Given the description of an element on the screen output the (x, y) to click on. 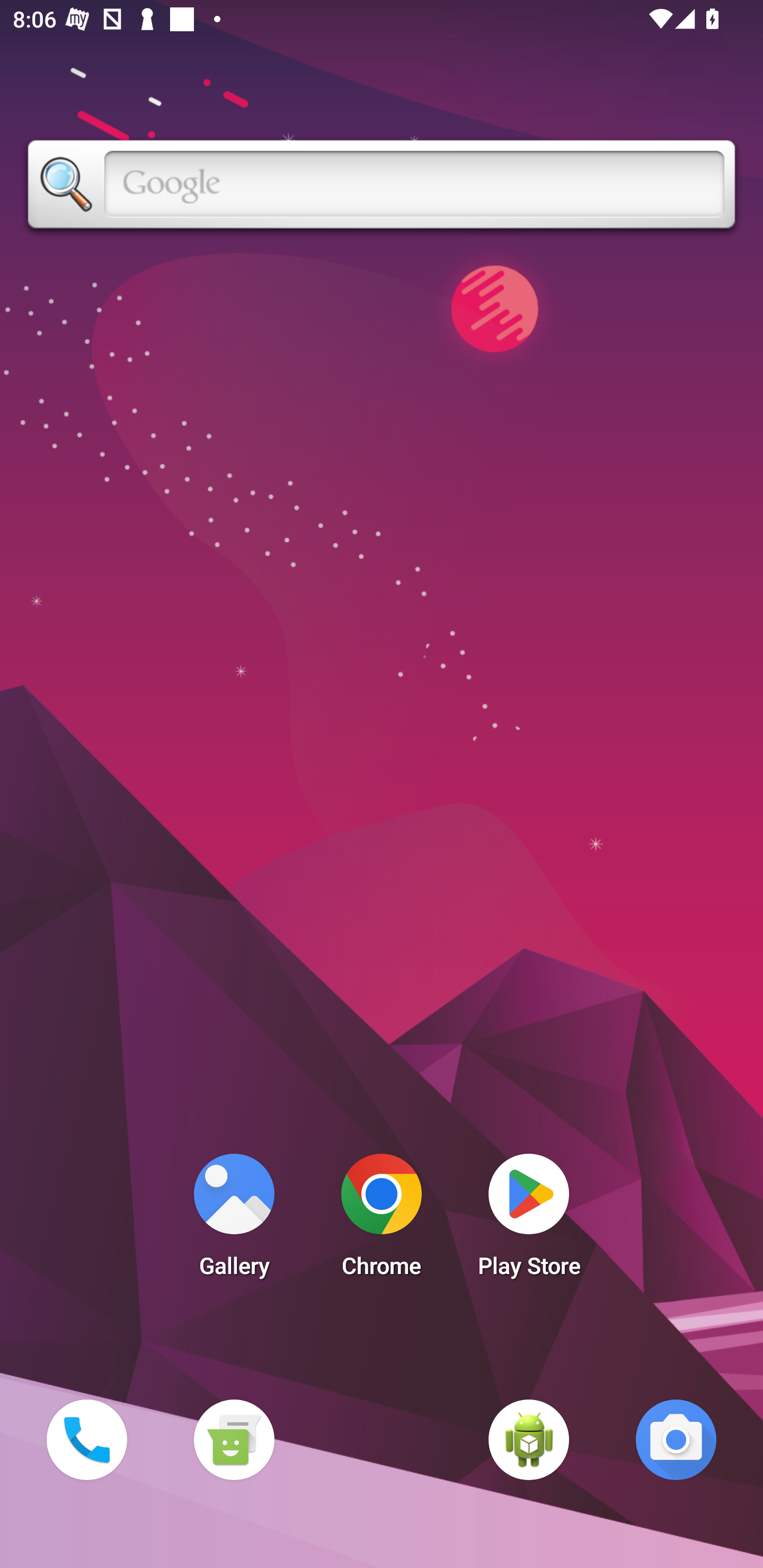
Gallery (233, 1220)
Chrome (381, 1220)
Play Store (528, 1220)
Phone (86, 1439)
Messaging (233, 1439)
WebView Browser Tester (528, 1439)
Camera (676, 1439)
